Given the description of an element on the screen output the (x, y) to click on. 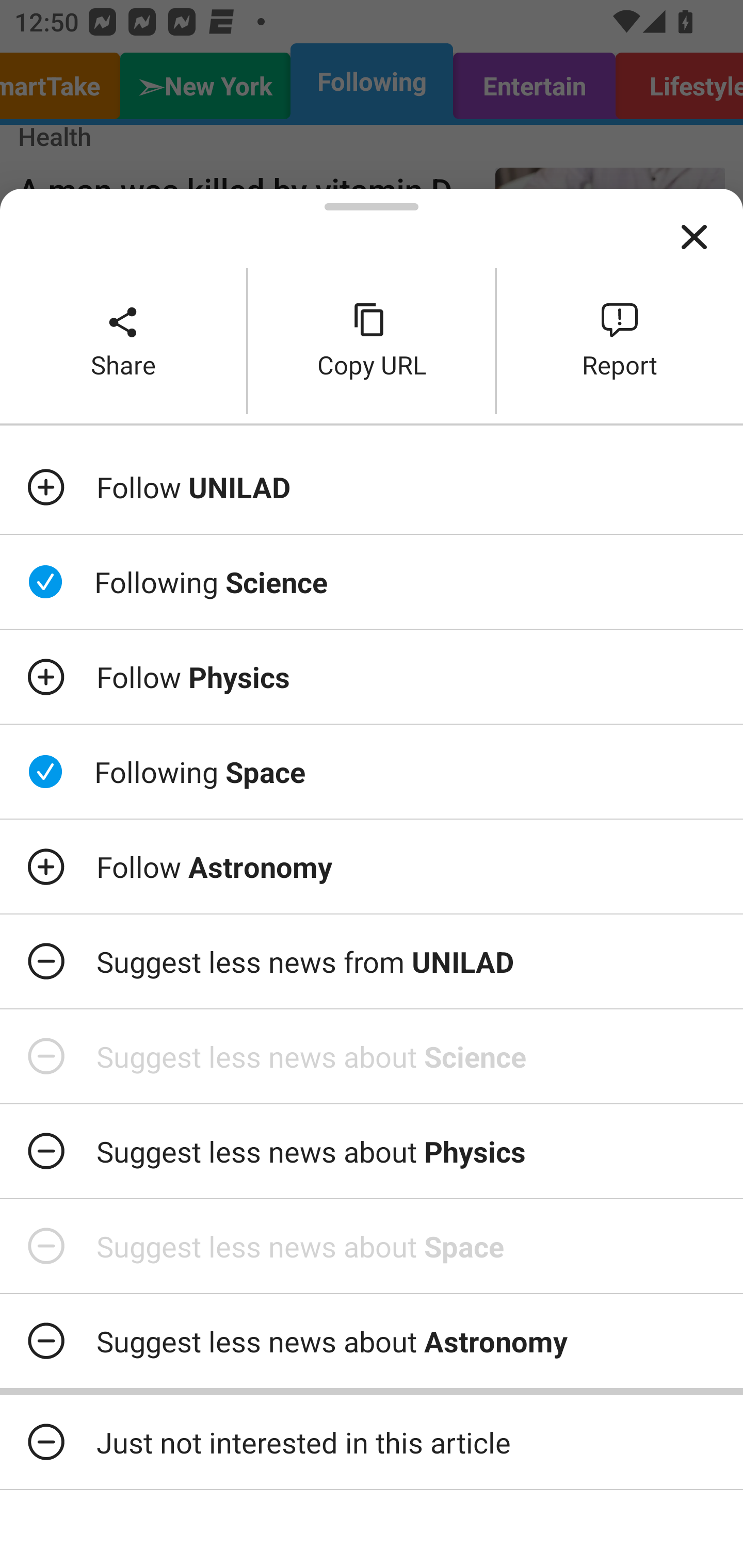
Close (694, 237)
Share (122, 340)
Copy URL (371, 340)
Report (620, 340)
Follow UNILAD (371, 486)
Following Science (371, 581)
Follow Physics (371, 677)
Following Space (371, 771)
Follow Astronomy (371, 867)
Suggest less news from UNILAD (371, 961)
Suggest less news about Physics (371, 1150)
Suggest less news about Astronomy (371, 1340)
Just not interested in this article (371, 1442)
